Given the description of an element on the screen output the (x, y) to click on. 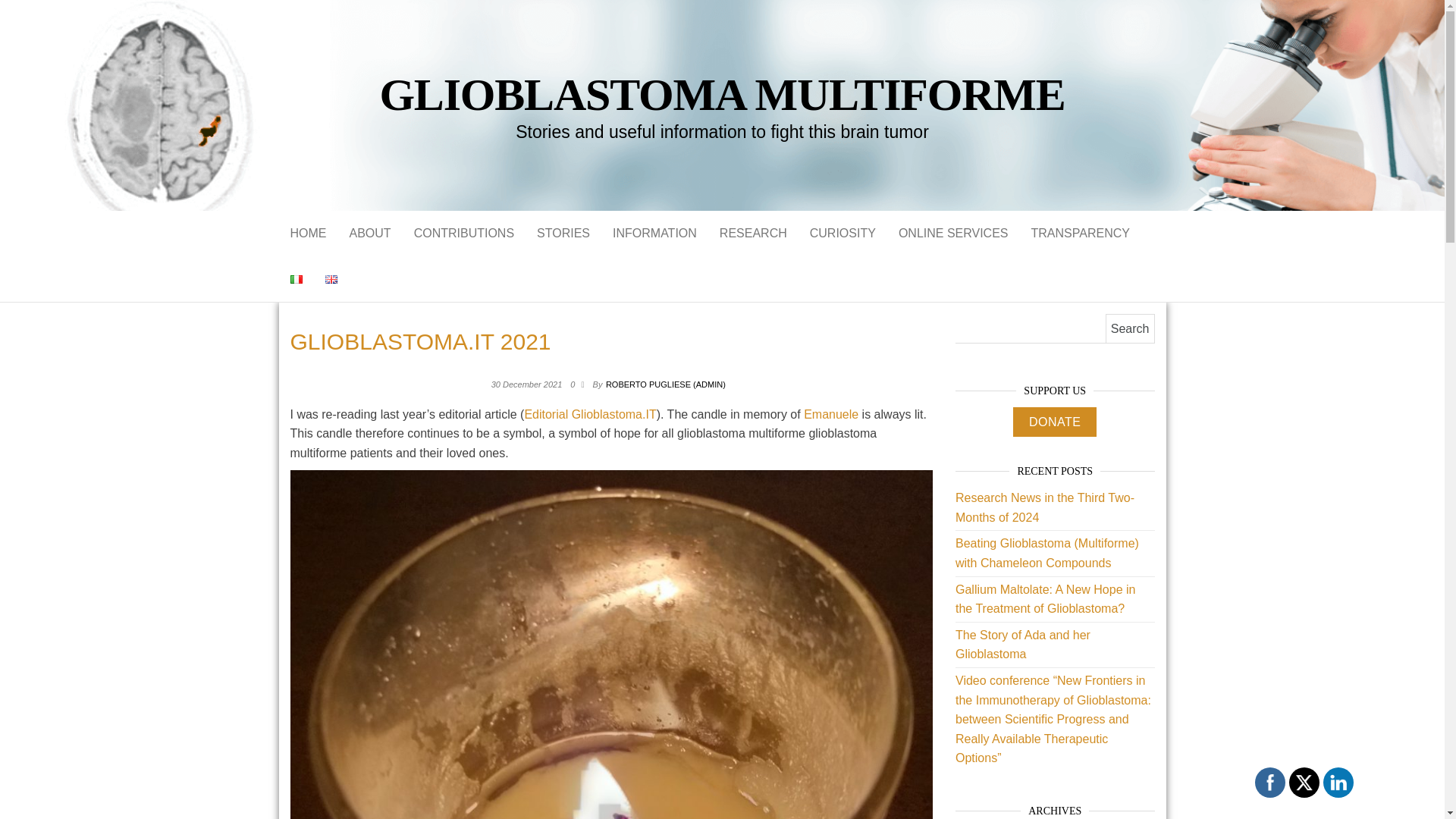
Contributions (464, 233)
Search (1129, 328)
DONATE (1054, 421)
Information (654, 233)
ONLINE SERVICES (953, 233)
Curiosity (841, 233)
CONTRIBUTIONS (464, 233)
CURIOSITY (841, 233)
Editorial Glioblastoma.IT (590, 413)
Research News in the Third Two-Months of 2024 (1044, 507)
